Given the description of an element on the screen output the (x, y) to click on. 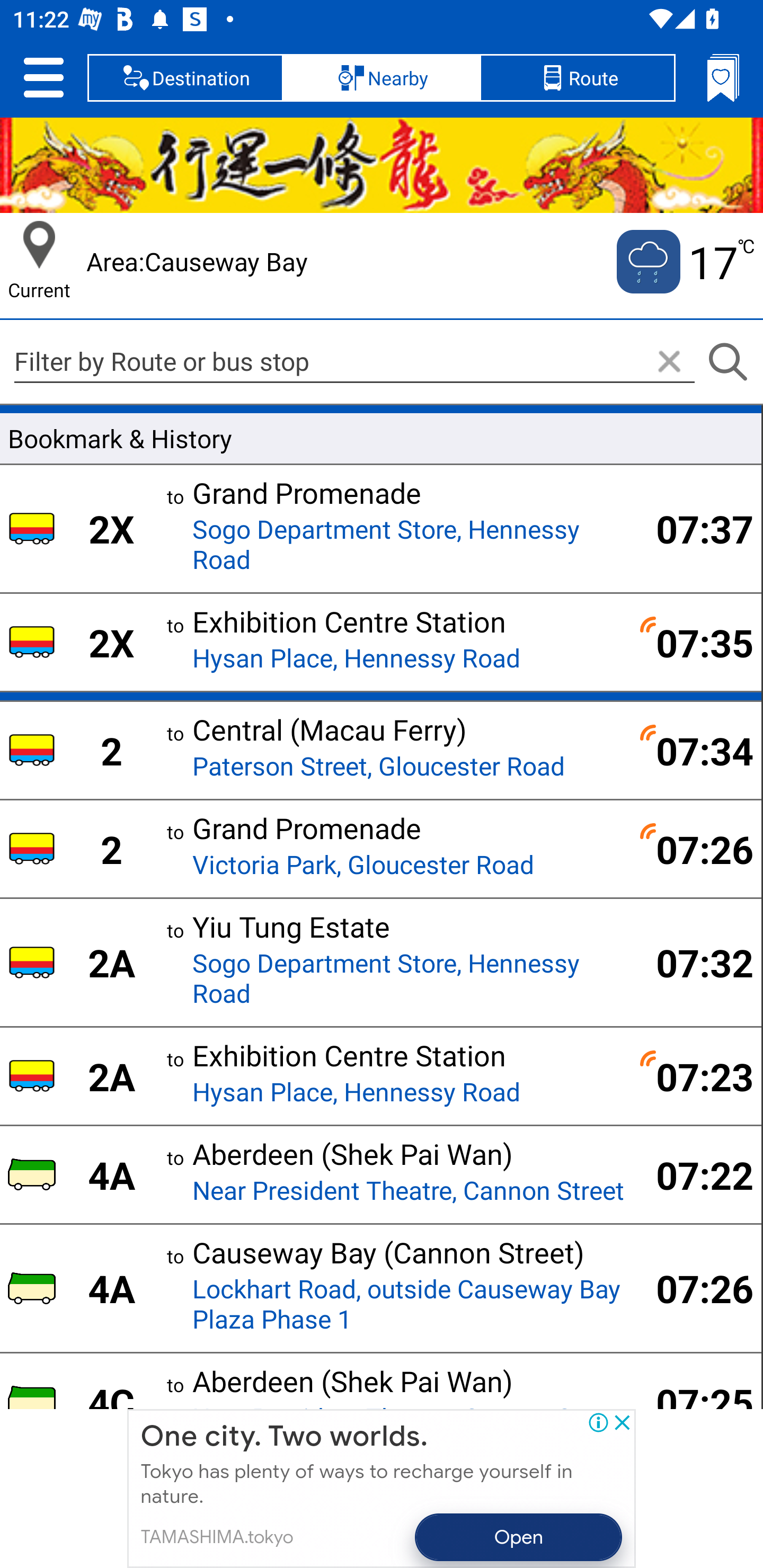
Destination (185, 77)
Nearby, selected (381, 77)
Route (577, 77)
Bookmarks (723, 77)
Setting (43, 77)
Lunar New Year 2024 (381, 165)
Current Location (38, 244)
Current temputure is  17  no 17 ℃ (684, 261)
Filter by Route or bus stop (354, 361)
Search (727, 362)
Clear (669, 361)
Bookmark & History (380, 434)
07:37 (693, 528)
07:35 (693, 641)
07:34 (693, 750)
07:26 (693, 848)
07:32 (693, 961)
07:23 (693, 1076)
07:22 (693, 1175)
07:26 (693, 1287)
One city. Two worlds. (283, 1437)
Open (519, 1537)
TAMASHIMA.tokyo (216, 1537)
